Given the description of an element on the screen output the (x, y) to click on. 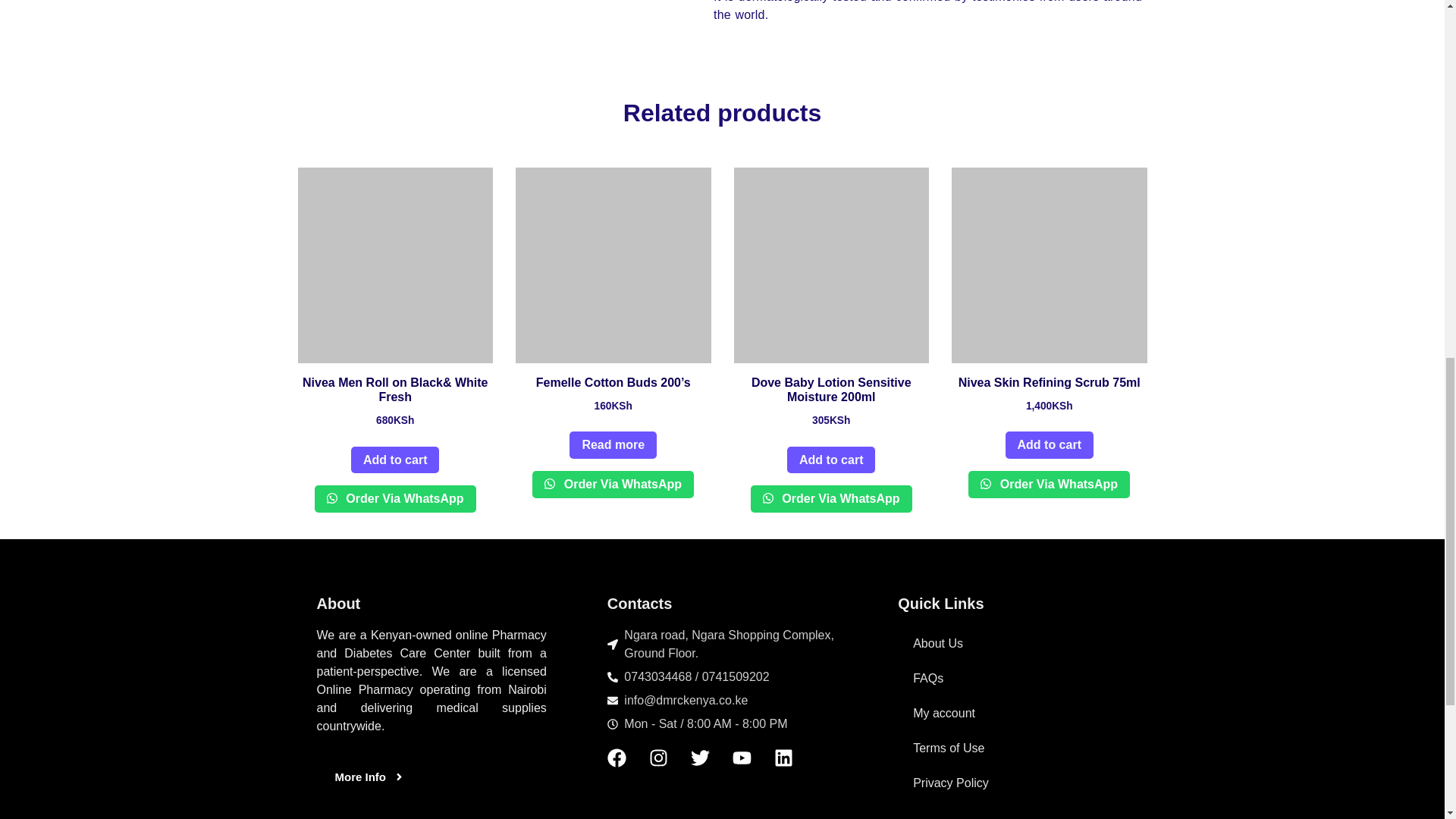
Complete order on WhatsApp to buy Femelle Cotton Buds 200's (613, 483)
